Given the description of an element on the screen output the (x, y) to click on. 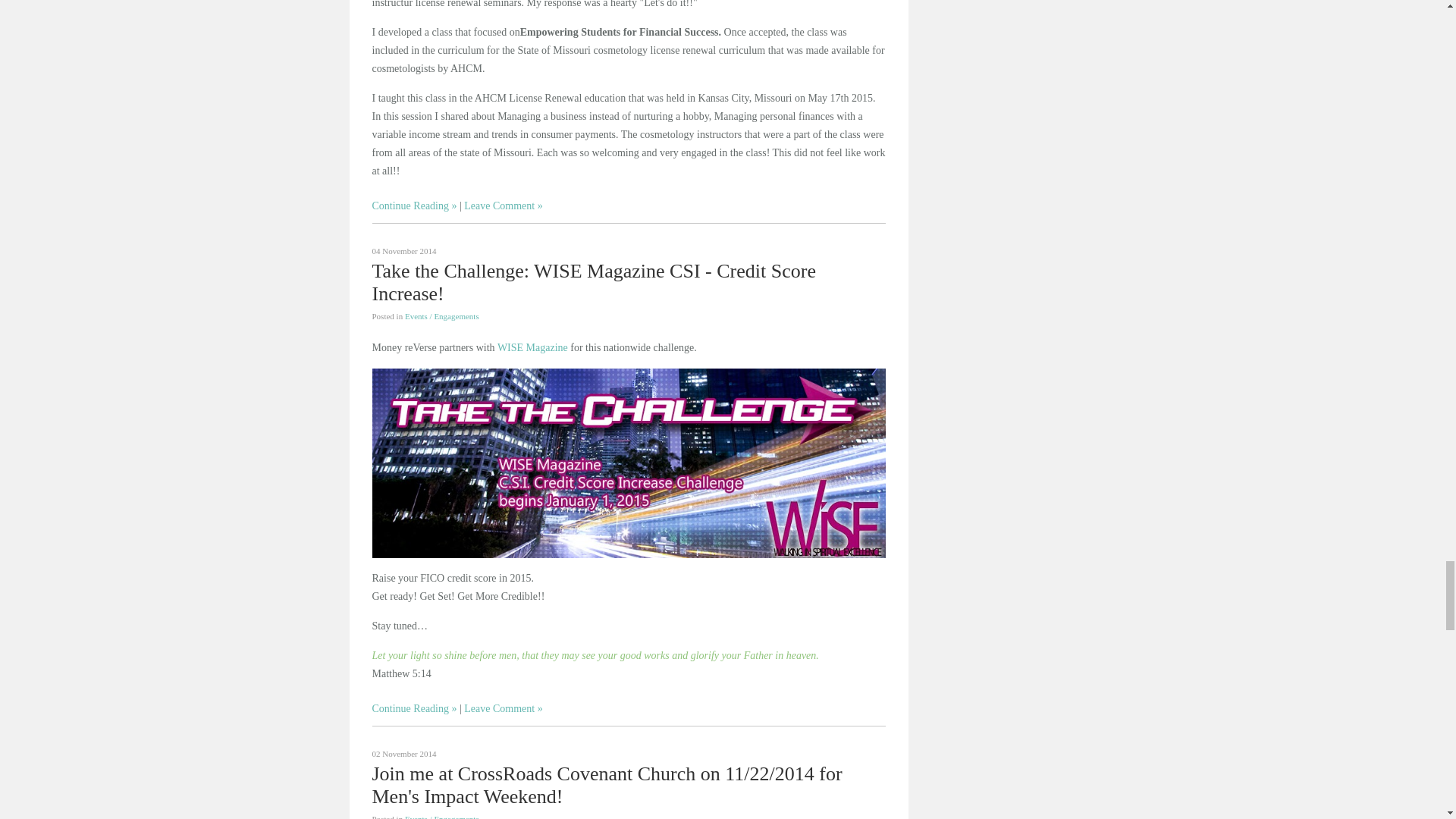
Leave Comment (502, 205)
Continue Reading (414, 205)
